Given the description of an element on the screen output the (x, y) to click on. 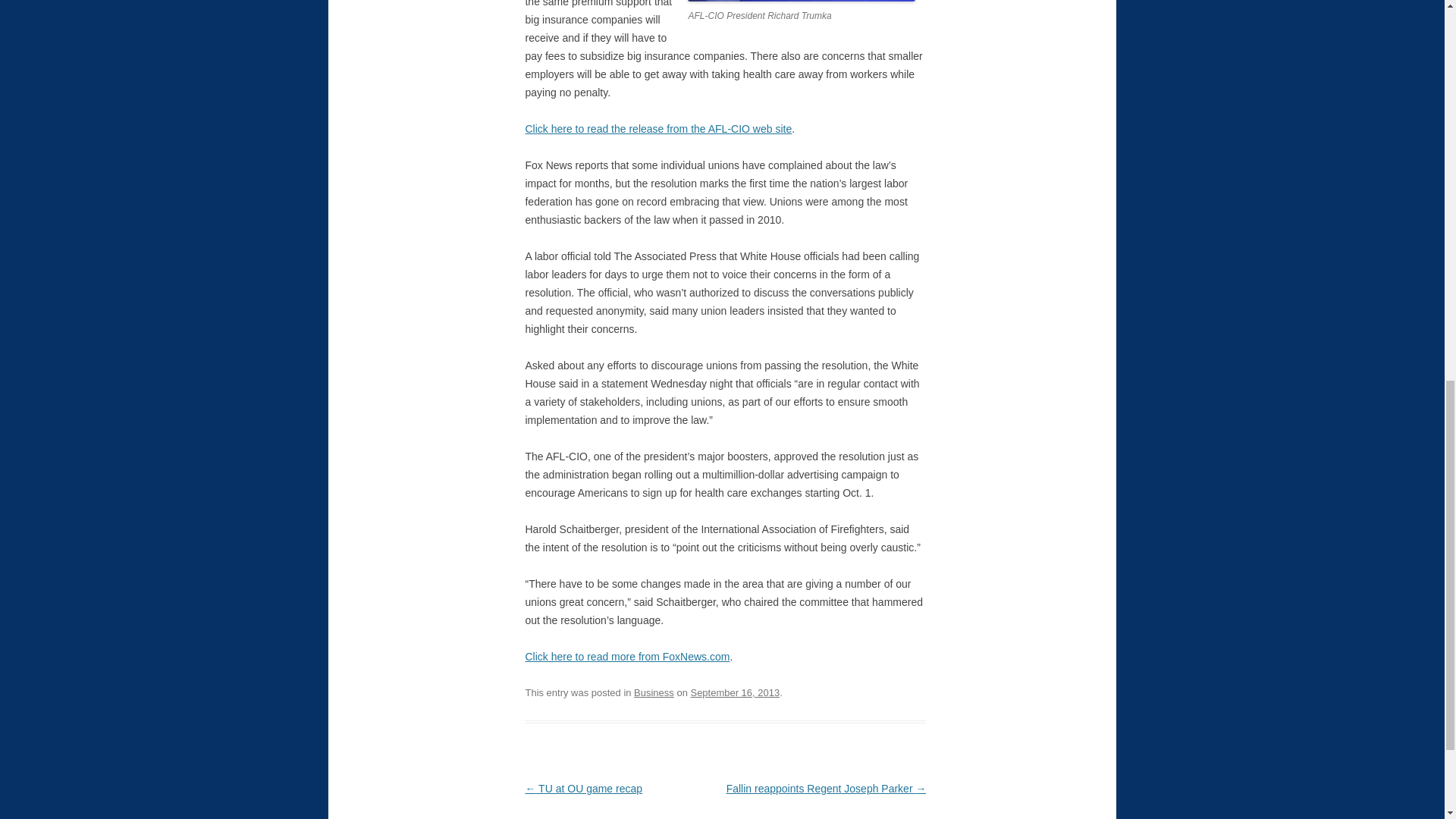
Click here to read the release from the AFL-CIO web site (658, 128)
Click here to read the release from the AFL-CIO web site (658, 128)
3:38 pm (734, 692)
Click here to read more from FoxNews.com (626, 656)
September 16, 2013 (734, 692)
Click here to read more from FoxNews.com (626, 656)
Business (653, 692)
